Given the description of an element on the screen output the (x, y) to click on. 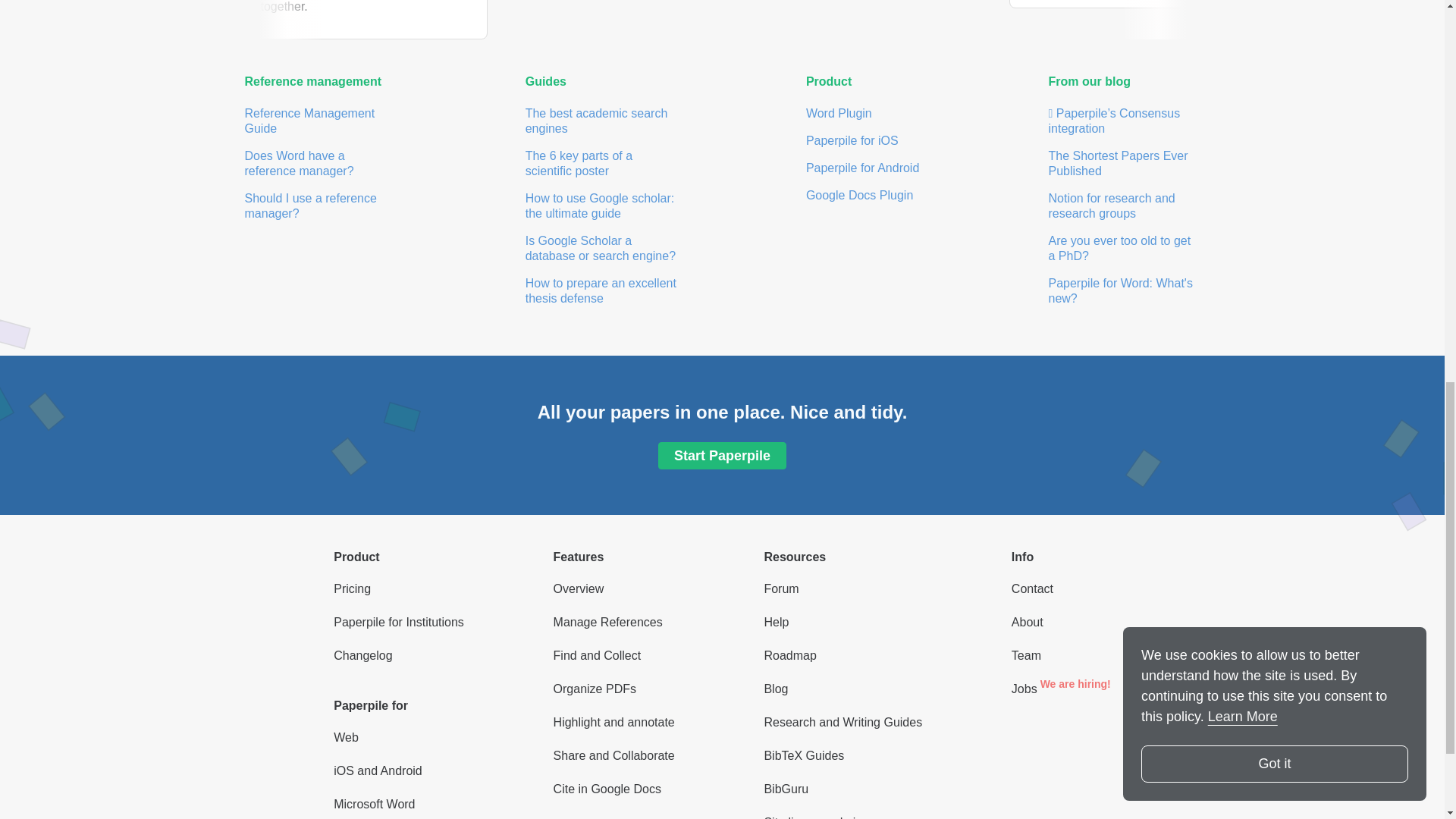
Google Docs Plugin (859, 195)
Should I use a reference manager? (308, 205)
The best academic search engines (595, 121)
Paperpile for iOS (852, 140)
Reference Management Guide (307, 121)
How to prepare an excellent thesis defense (599, 290)
The 6 key parts of a scientific poster (576, 163)
How to use Google scholar: the ultimate guide (598, 205)
Is Google Scholar a database or search engine? (600, 248)
Paperpile for Android (862, 167)
Word Plugin (839, 113)
Notion for research and research groups (1109, 205)
Does Word have a reference manager? (298, 163)
The Shortest Papers Ever Published (1116, 163)
